Given the description of an element on the screen output the (x, y) to click on. 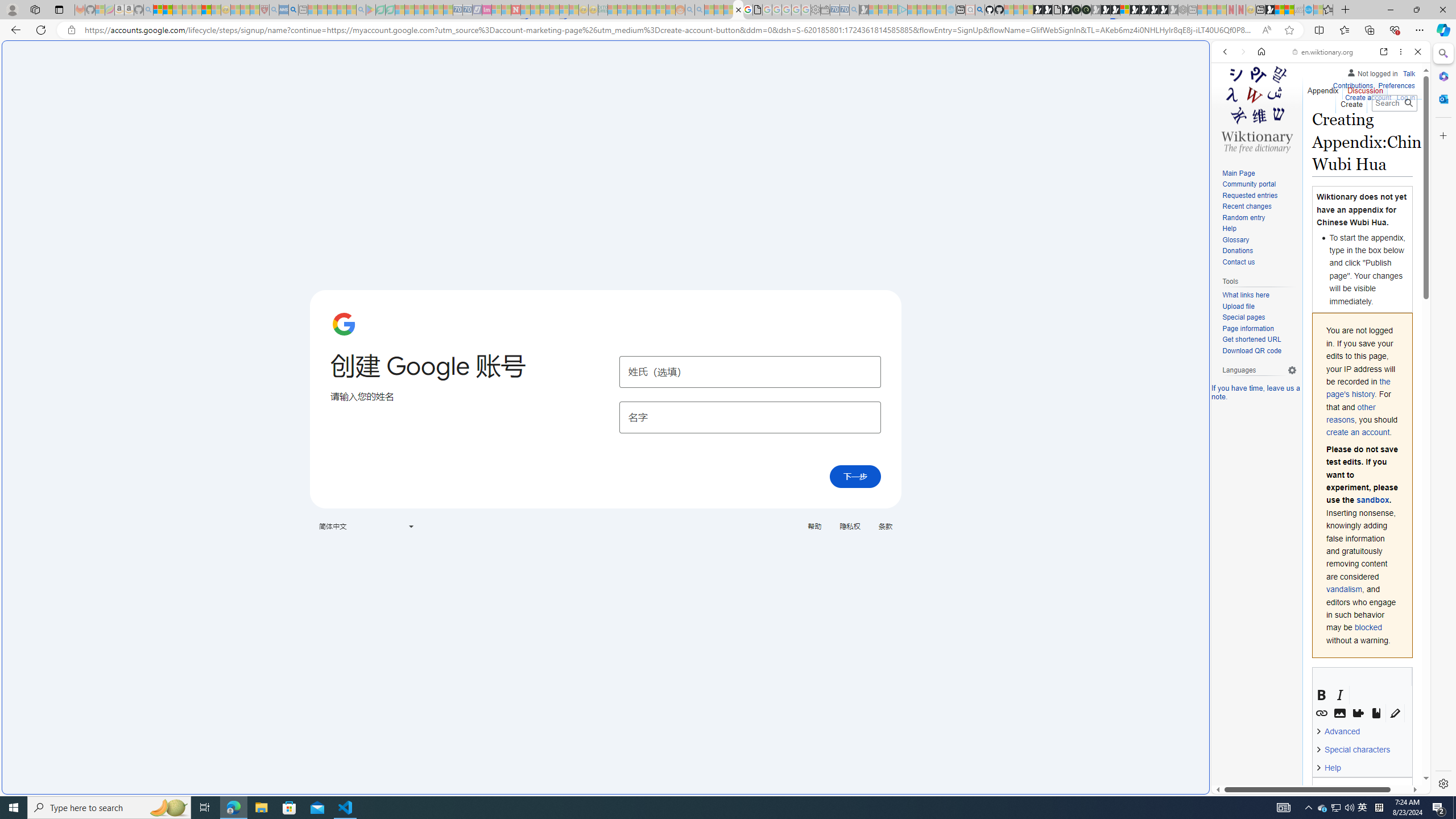
Search or enter web address (922, 108)
Upload file (1238, 306)
Download QR code (1259, 351)
Special pages (1259, 317)
github - Search (979, 9)
